Given the description of an element on the screen output the (x, y) to click on. 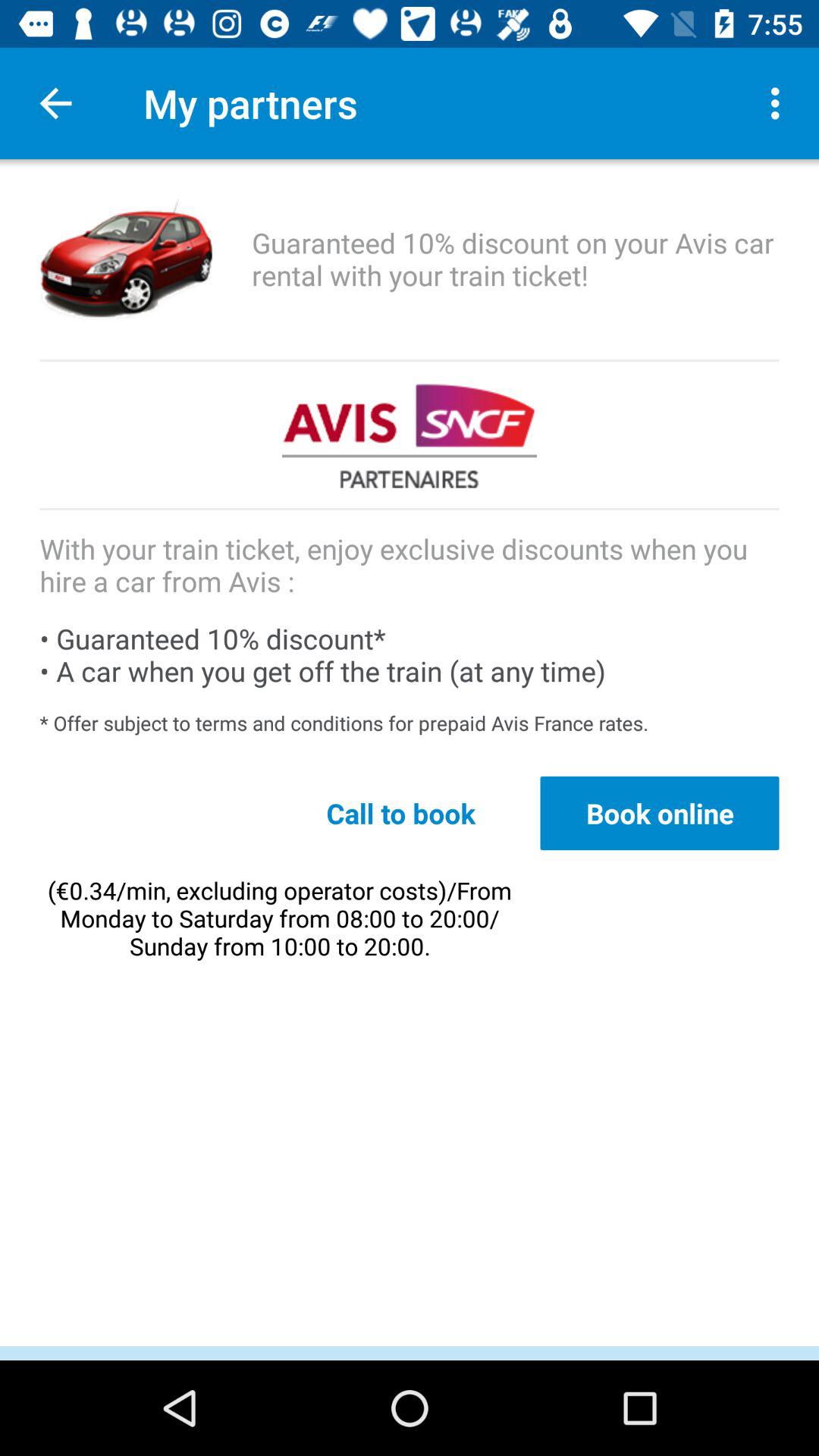
choose the item at the top right corner (779, 103)
